Given the description of an element on the screen output the (x, y) to click on. 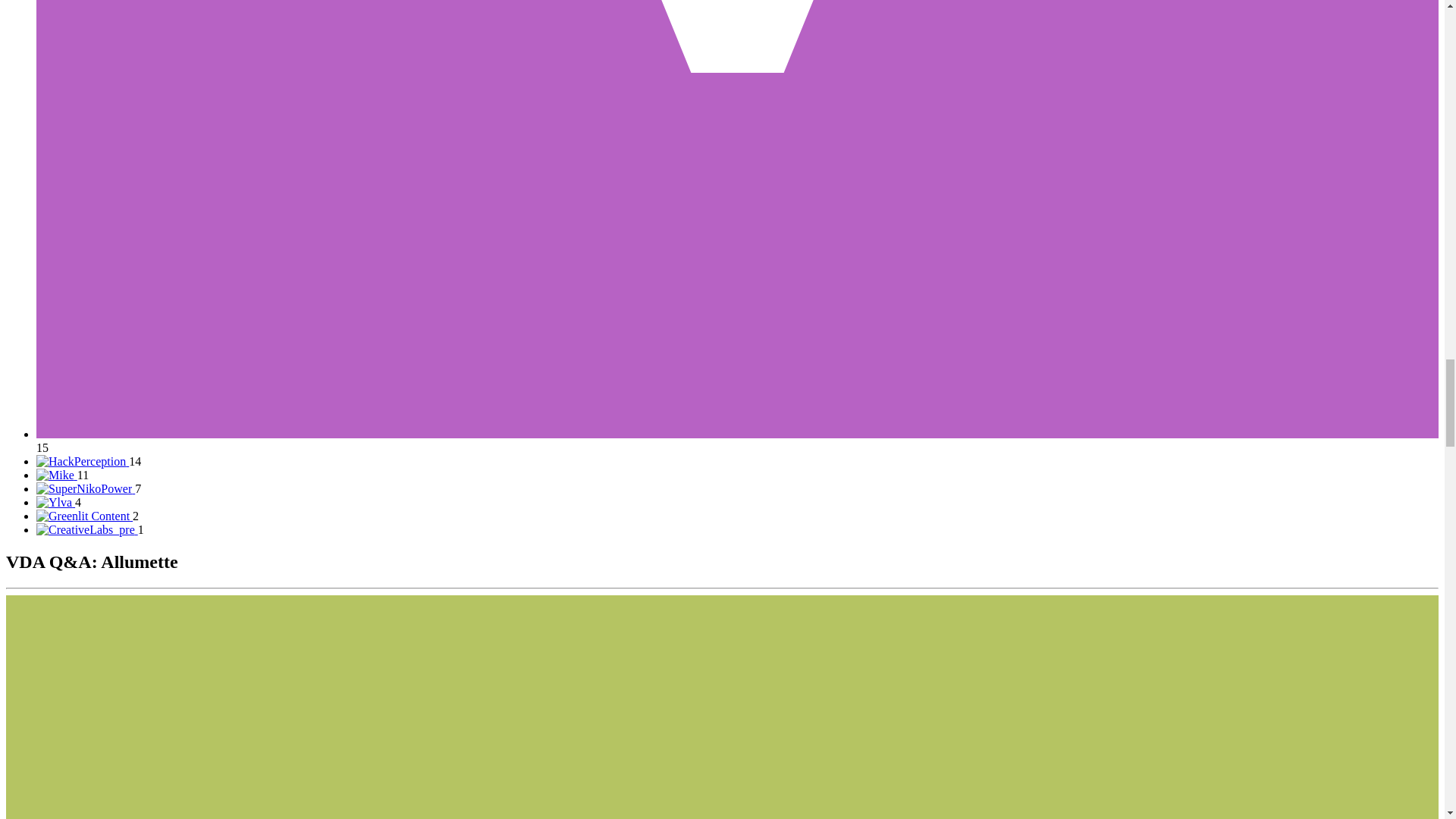
Greenlit Content (87, 515)
HackPerception (88, 461)
Ylva (58, 502)
Go to HackPerception's profile (82, 461)
Go to Ylva's profile (55, 502)
Mike (62, 474)
Go to Greenlit Content's profile (84, 515)
Go to SuperNikoPower's profile (85, 488)
Go to Mike's profile (56, 474)
SuperNikoPower (88, 488)
